Given the description of an element on the screen output the (x, y) to click on. 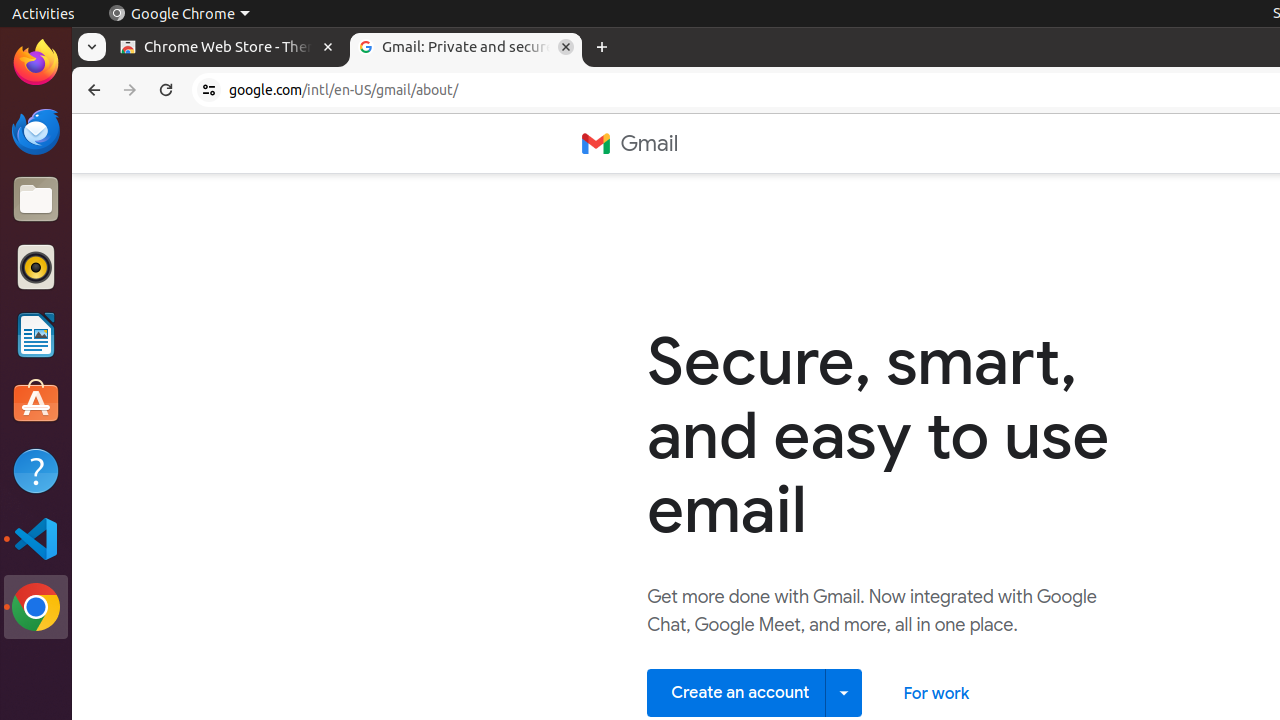
Visual Studio Code Element type: push-button (36, 538)
View site information Element type: push-button (209, 90)
Files Element type: push-button (36, 199)
New Tab Element type: push-button (602, 47)
Rhythmbox Element type: push-button (36, 267)
